Given the description of an element on the screen output the (x, y) to click on. 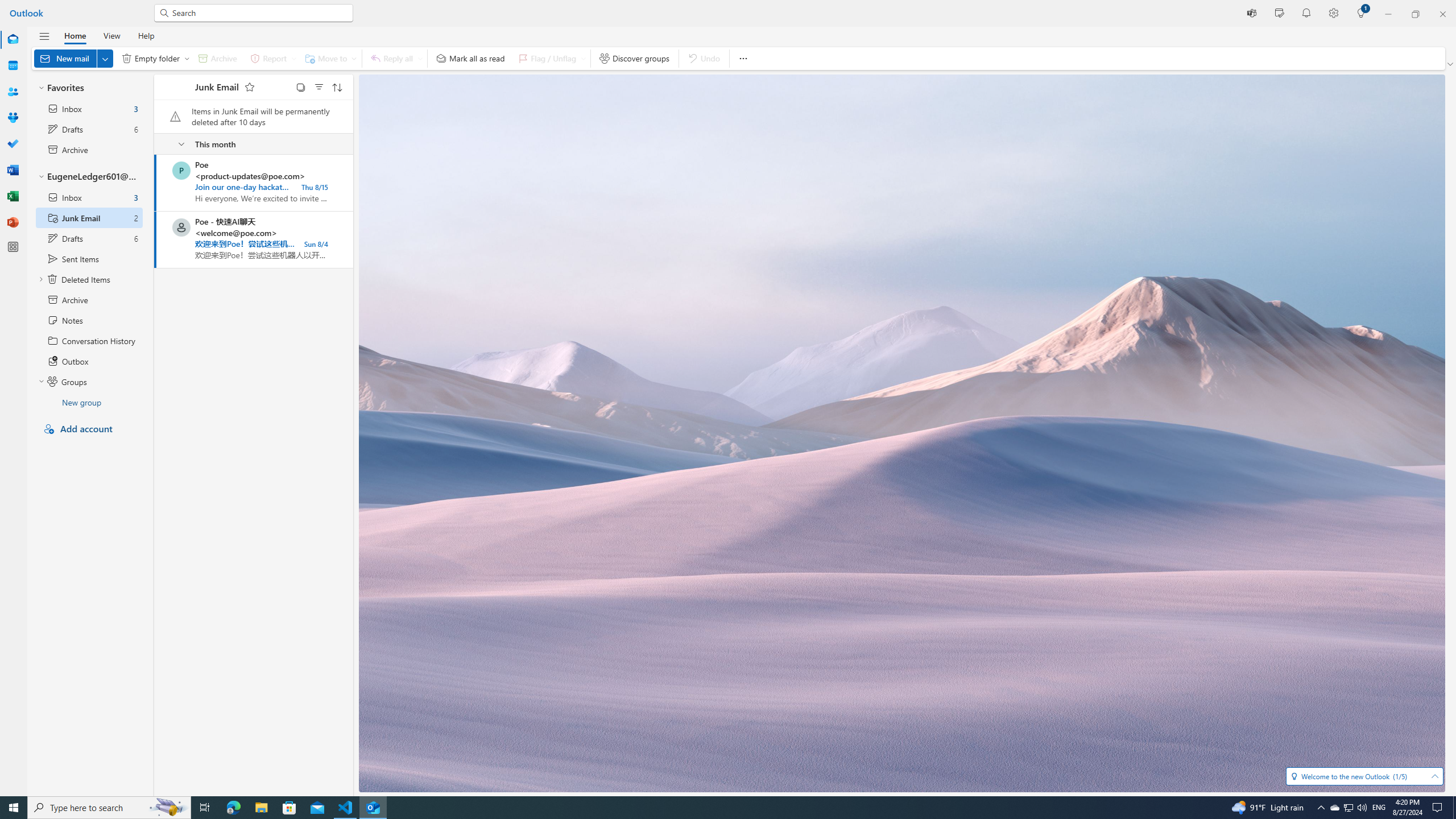
Sorted: By Date (336, 86)
Expand to see more report options (293, 58)
Archive (89, 299)
People (12, 92)
Expand to see delete options (187, 58)
More options (742, 58)
System (6, 6)
Calendar (12, 65)
Archive (217, 58)
